Given the description of an element on the screen output the (x, y) to click on. 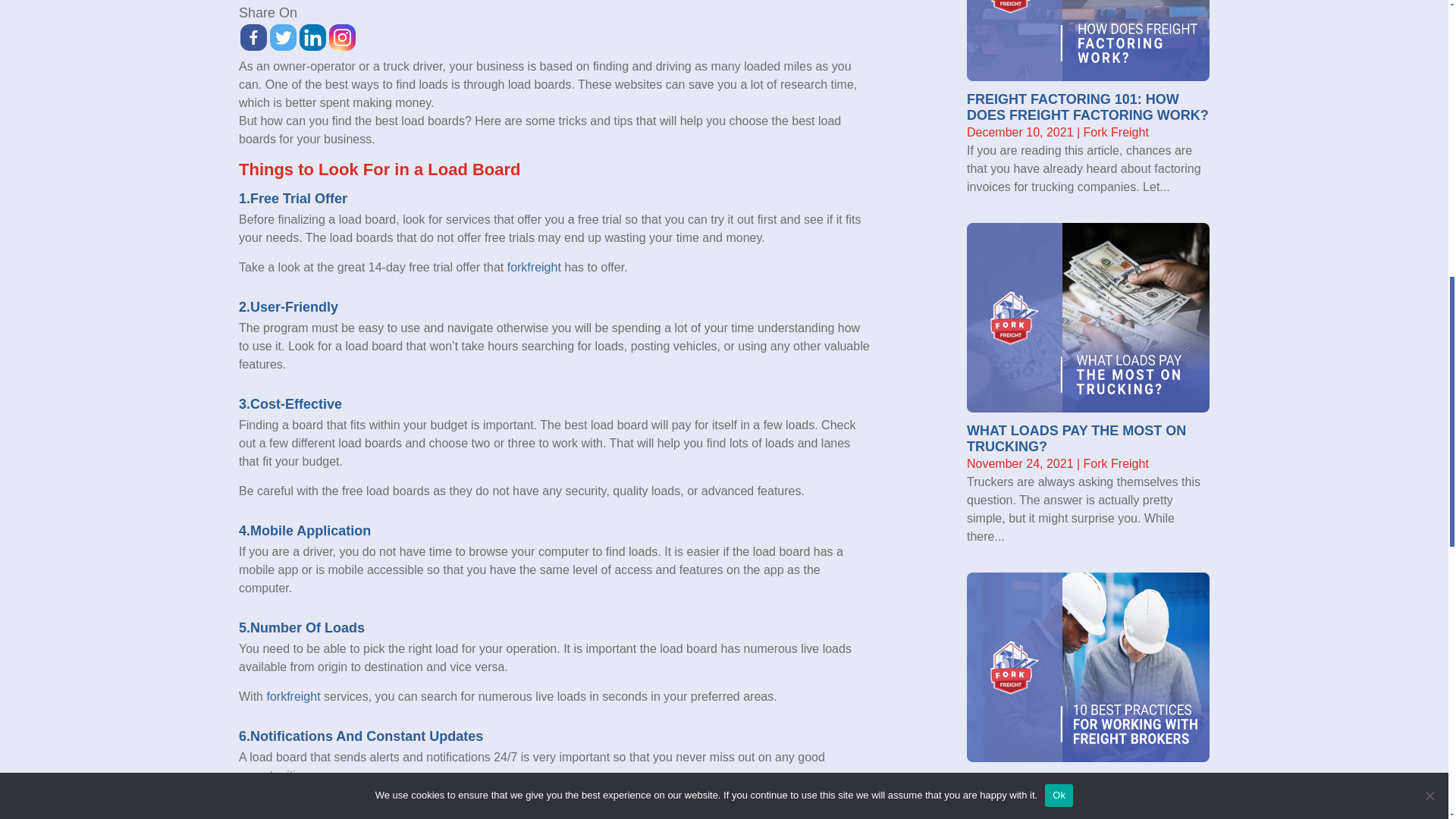
forkfreight (293, 696)
Twitter (283, 37)
Facebook (253, 37)
Instagram (342, 37)
forkfreight (533, 267)
Linkedin (312, 37)
